Given the description of an element on the screen output the (x, y) to click on. 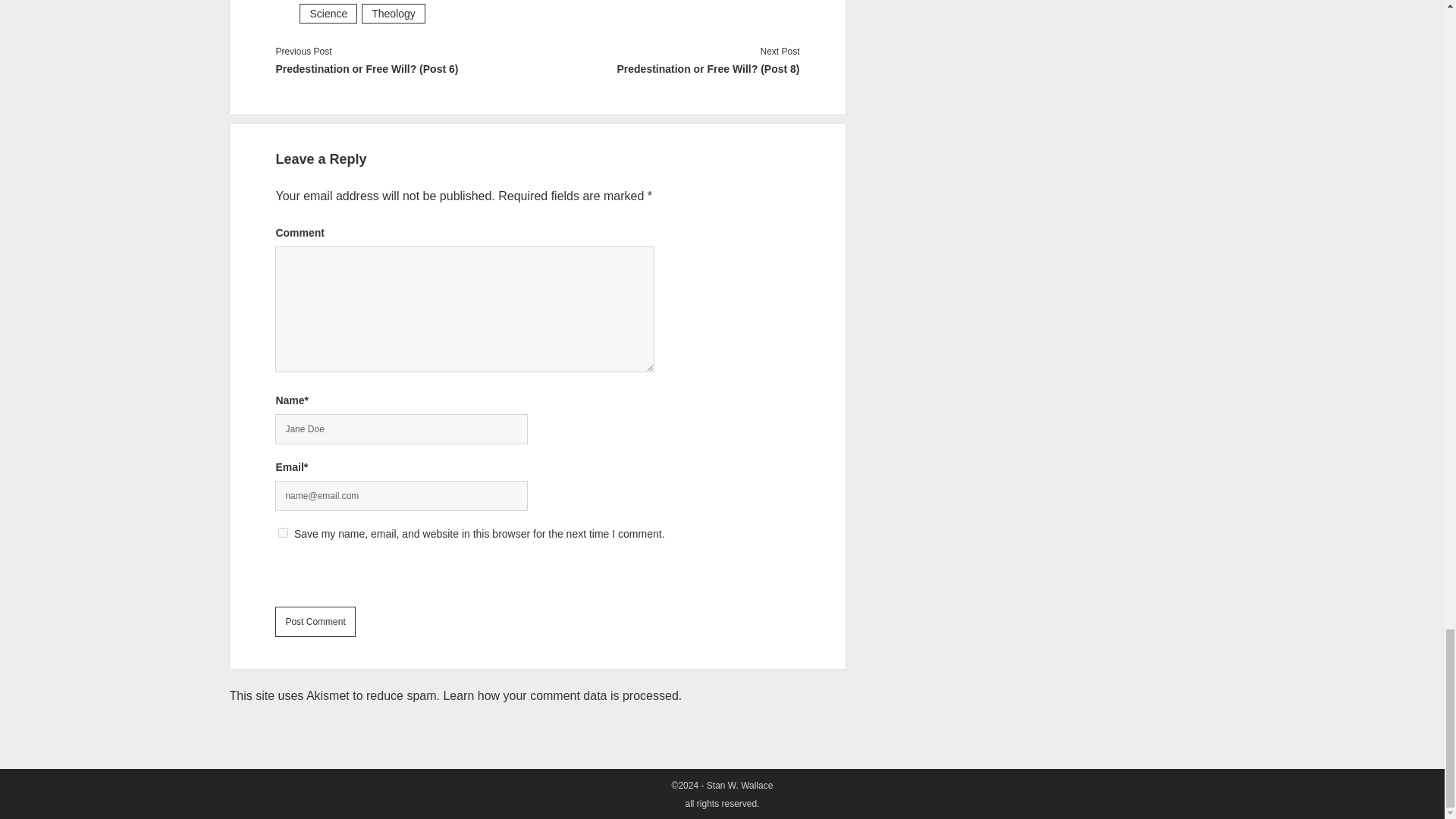
Science (327, 13)
View all posts tagged Theology (393, 13)
Learn how your comment data is processed (560, 695)
Theology (393, 13)
Post Comment (315, 621)
View all posts tagged Science (327, 13)
Post Comment (315, 621)
yes (283, 532)
